Given the description of an element on the screen output the (x, y) to click on. 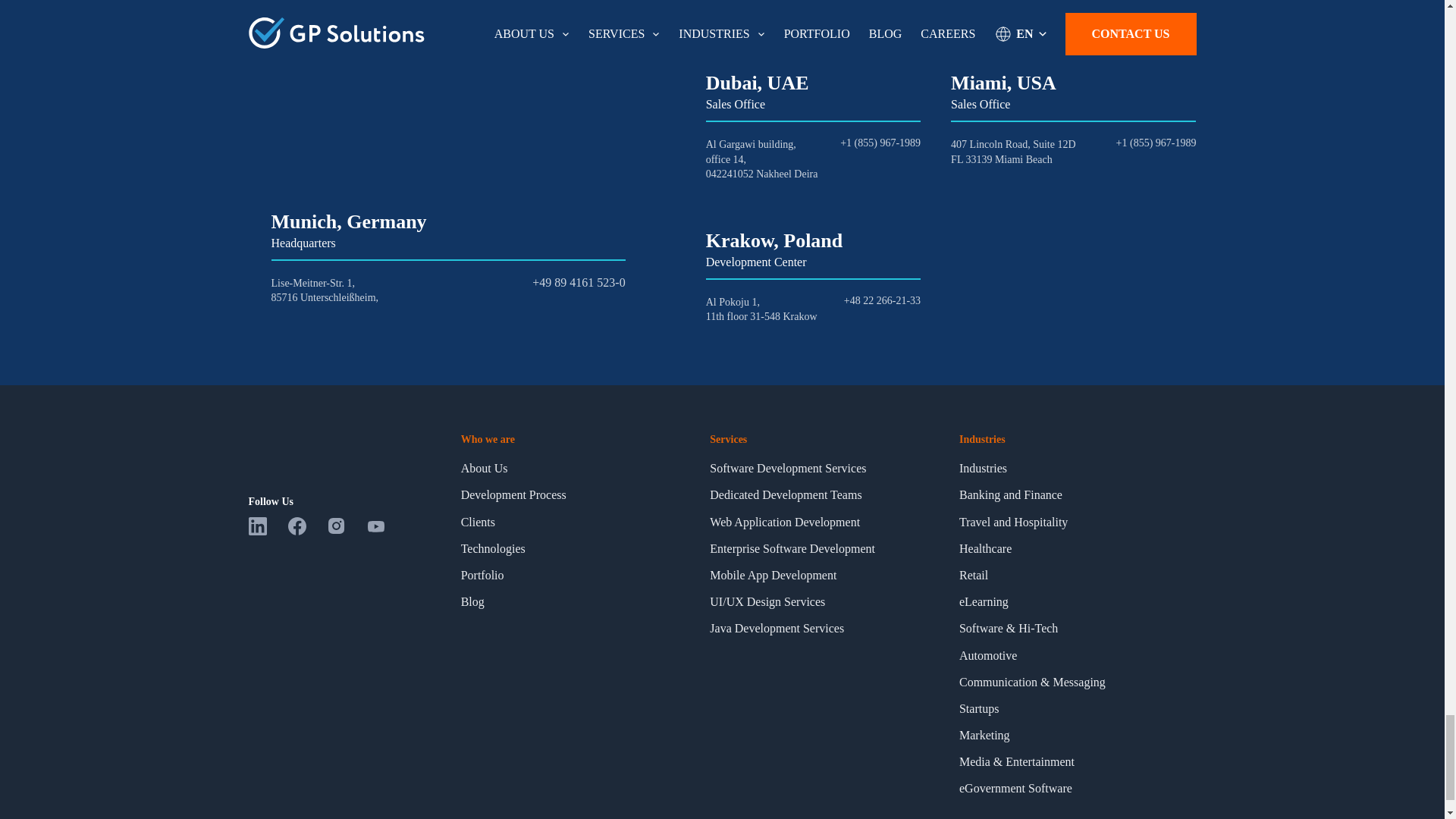
Facebook (307, 530)
Youtube (384, 530)
Instagram (346, 530)
LinkedIn (268, 530)
